Given the description of an element on the screen output the (x, y) to click on. 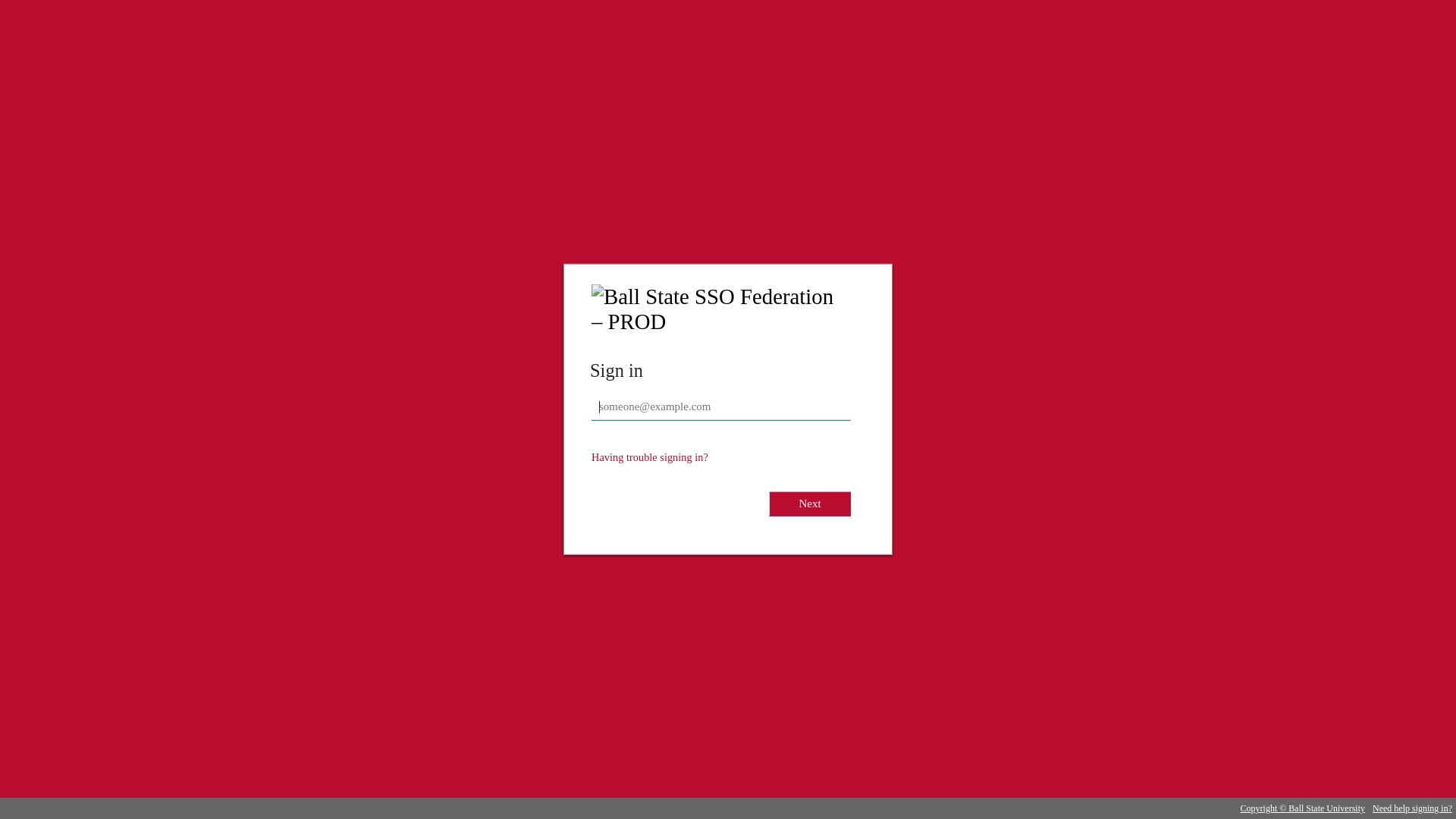
Having trouble signing in? Element type: text (649, 457)
Next Element type: text (809, 504)
